Given the description of an element on the screen output the (x, y) to click on. 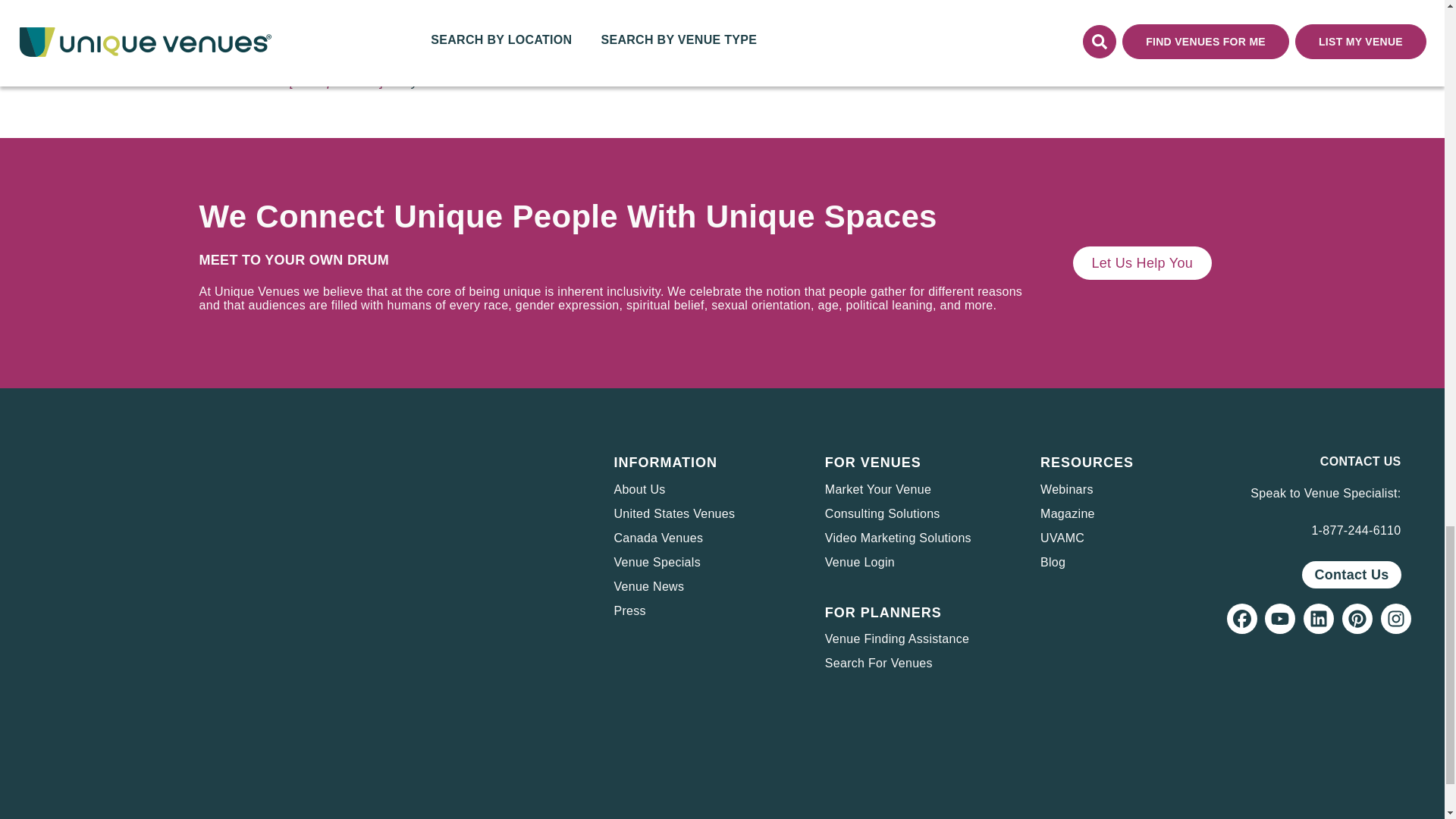
Company Contact Us Page Link (1350, 574)
Company Contact Number (1355, 530)
Unique Venues Logo (93, 497)
